Given the description of an element on the screen output the (x, y) to click on. 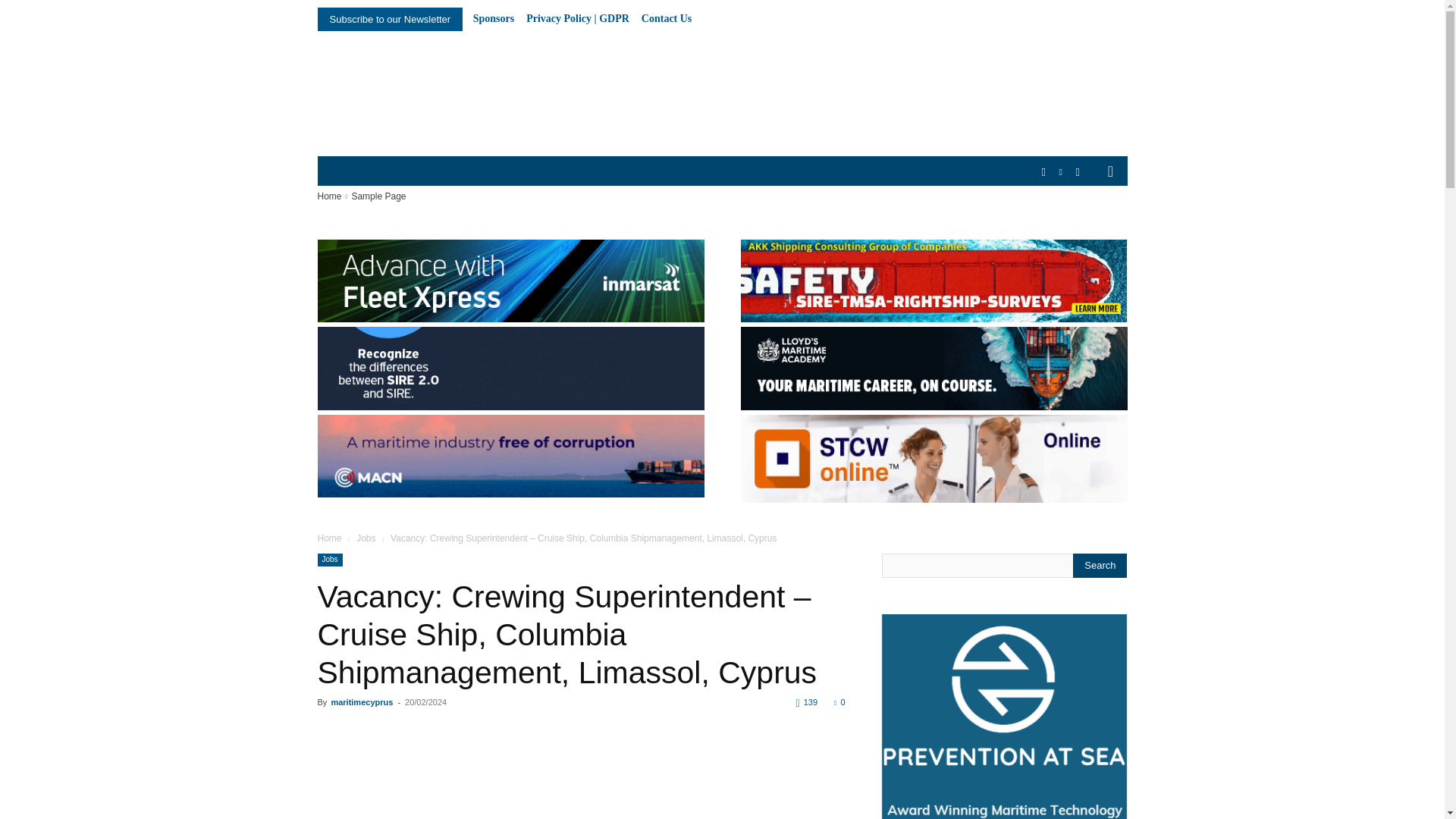
Subscribe to our Newsletter (390, 19)
Contact Us (667, 18)
Twitter (1077, 171)
Facebook (1043, 171)
Sponsors (493, 18)
Search (1099, 565)
Subscribe to our Newsletter (390, 19)
Linkedin (1061, 171)
